Given the description of an element on the screen output the (x, y) to click on. 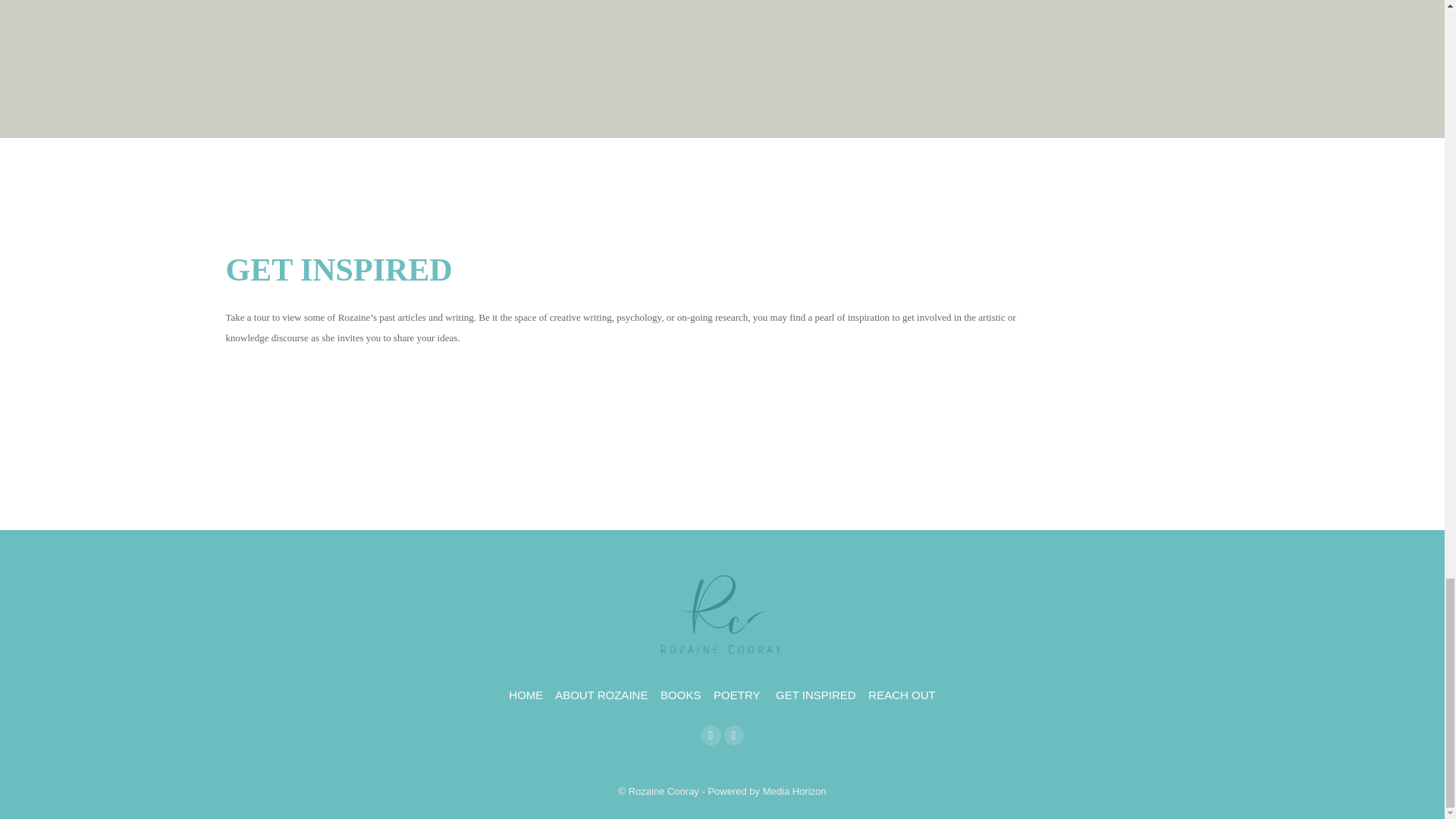
Media Horizon (794, 790)
REACH OUT (900, 694)
HOME (525, 694)
Linkedin page opens in new window (732, 735)
GET INSPIRED (816, 694)
Facebook page opens in new window (710, 735)
Facebook page opens in new window (710, 735)
BOOKS (680, 694)
Linkedin page opens in new window (732, 735)
POETRY (736, 694)
